Given the description of an element on the screen output the (x, y) to click on. 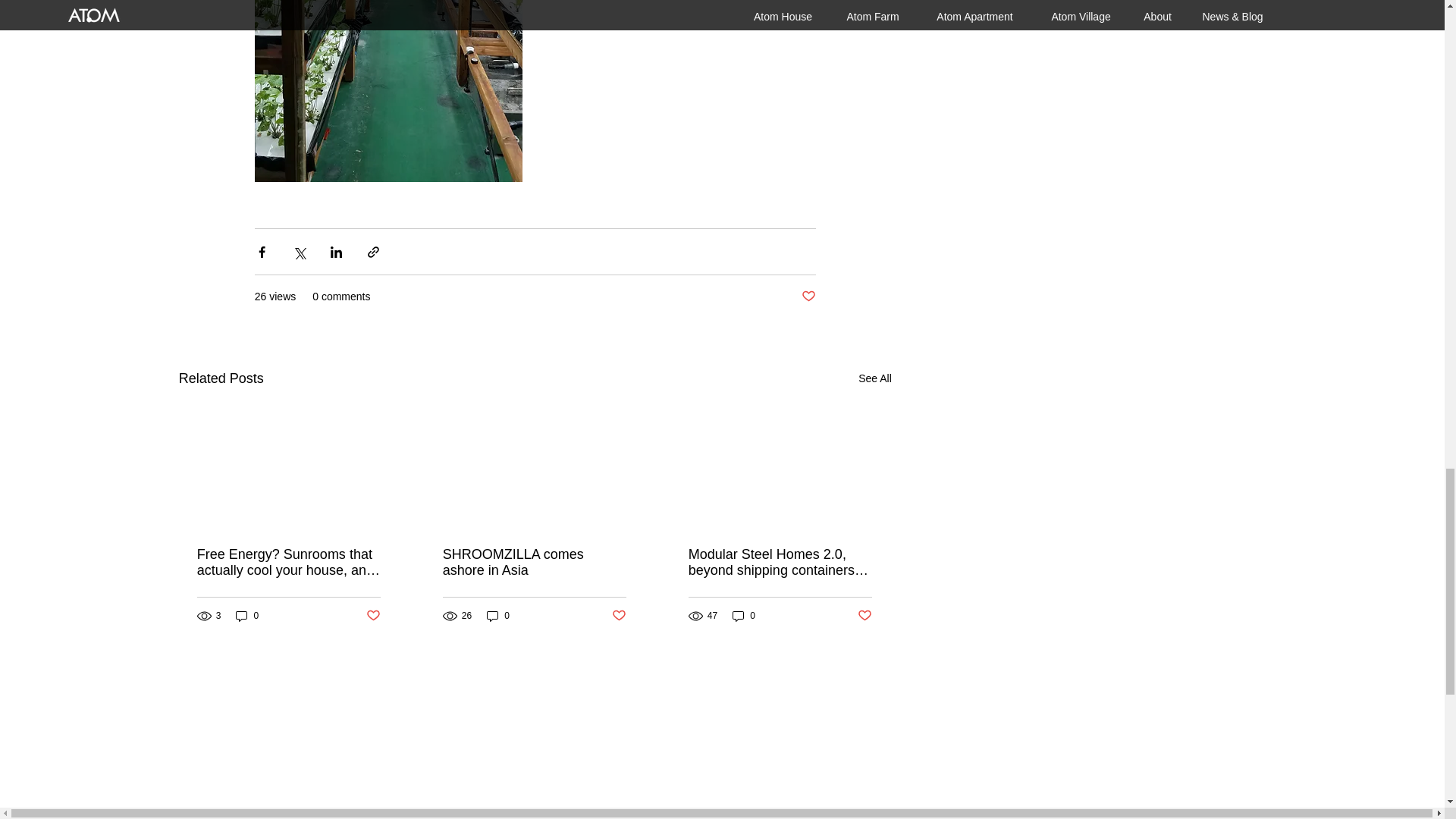
SHROOMZILLA comes ashore in Asia (534, 562)
0 (247, 616)
0 (497, 616)
See All (875, 378)
Post not marked as liked (373, 616)
Post not marked as liked (808, 296)
